Given the description of an element on the screen output the (x, y) to click on. 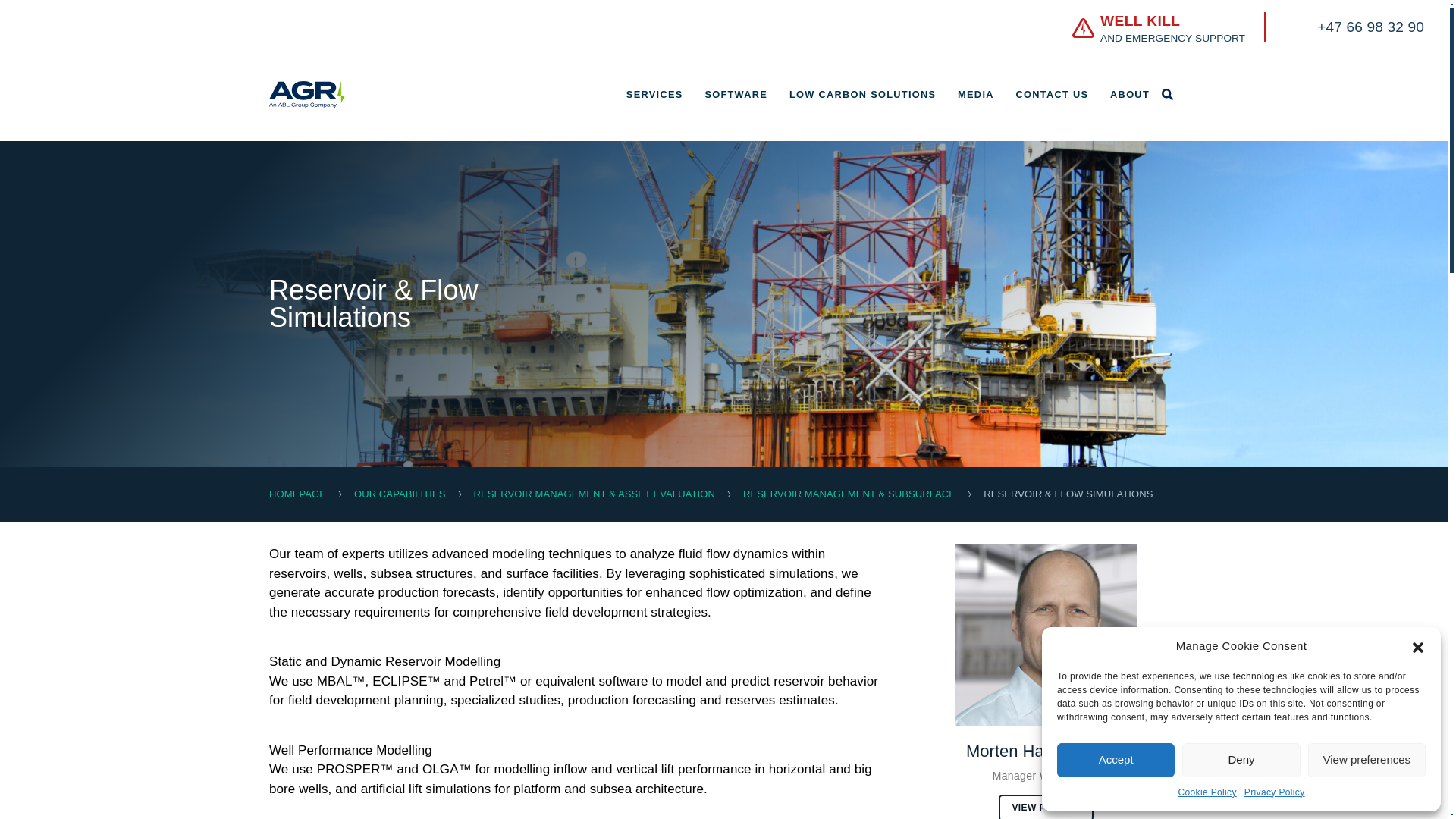
Deny (1241, 759)
LOW CARBON SOLUTIONS (862, 94)
Cookie Policy (1206, 792)
View preferences (1366, 759)
SERVICES (654, 94)
Homepage (1247, 29)
Our capabilities (297, 493)
SOFTWARE (399, 493)
Privacy Policy (735, 94)
Accept (1274, 792)
